Given the description of an element on the screen output the (x, y) to click on. 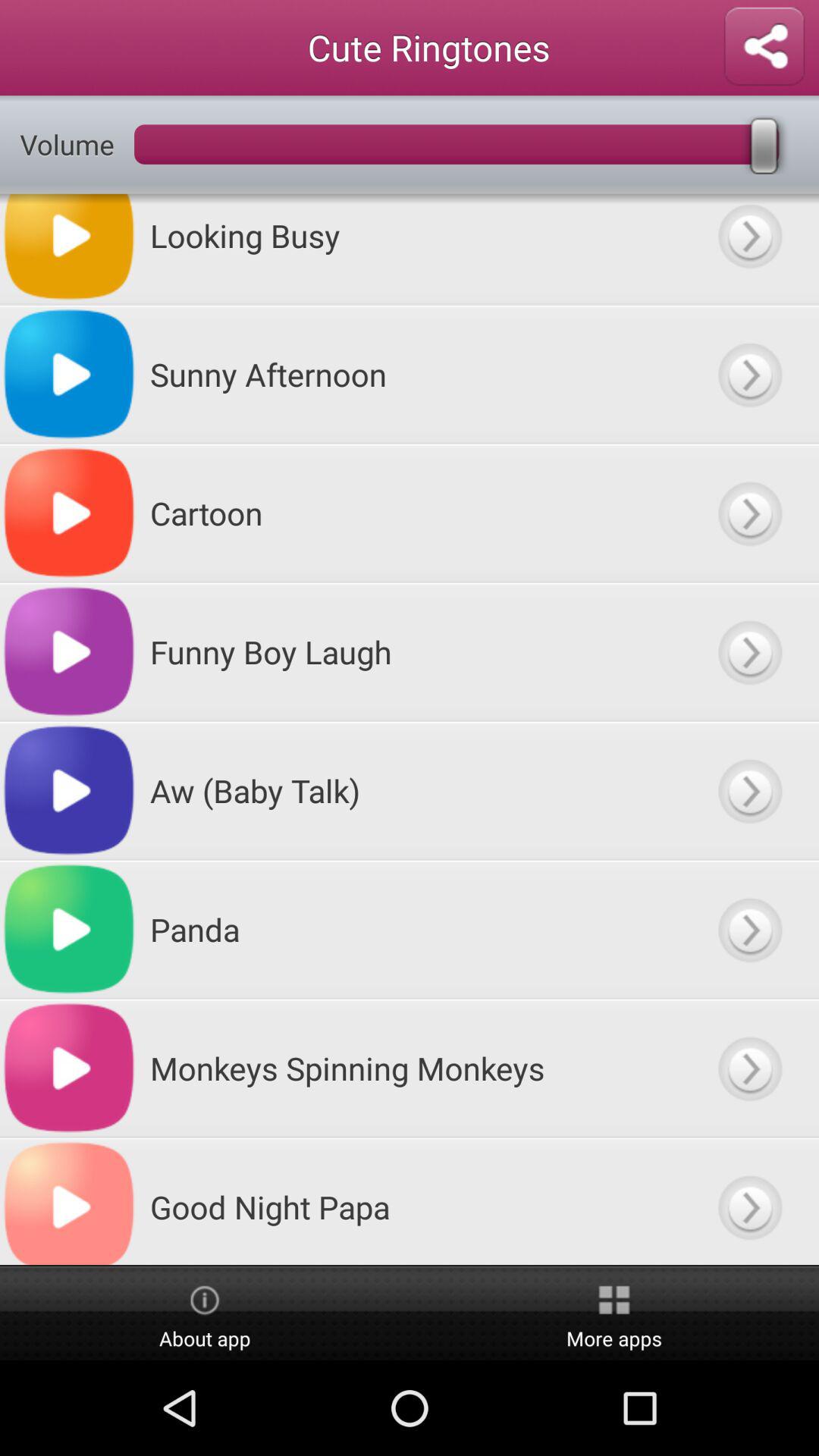
previous button (749, 1201)
